Given the description of an element on the screen output the (x, y) to click on. 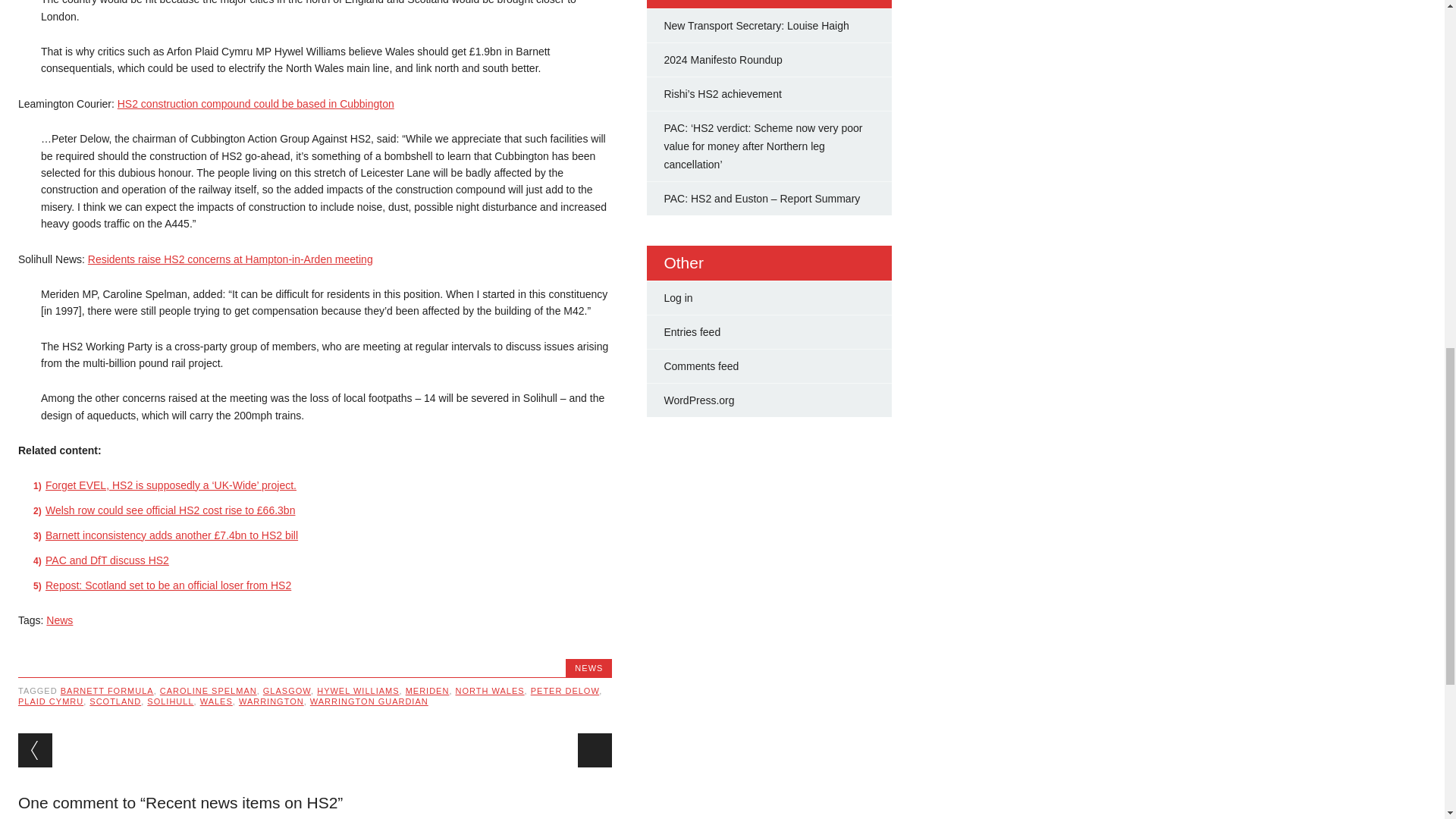
GLASGOW (287, 690)
Repost: Scotland set to be an official loser from HS2 (168, 585)
SCOTLAND (114, 700)
Permanent link to PAC and DfT discuss HS2 (106, 560)
SOLIHULL (170, 700)
PAC and DfT discuss HS2 (106, 560)
MERIDEN (427, 690)
BARNETT FORMULA (107, 690)
News (59, 620)
PLAID CYMRU (49, 700)
CAROLINE SPELMAN (208, 690)
Residents raise HS2 concerns at Hampton-in-Arden meeting (229, 259)
News (59, 620)
HYWEL WILLIAMS (357, 690)
